Given the description of an element on the screen output the (x, y) to click on. 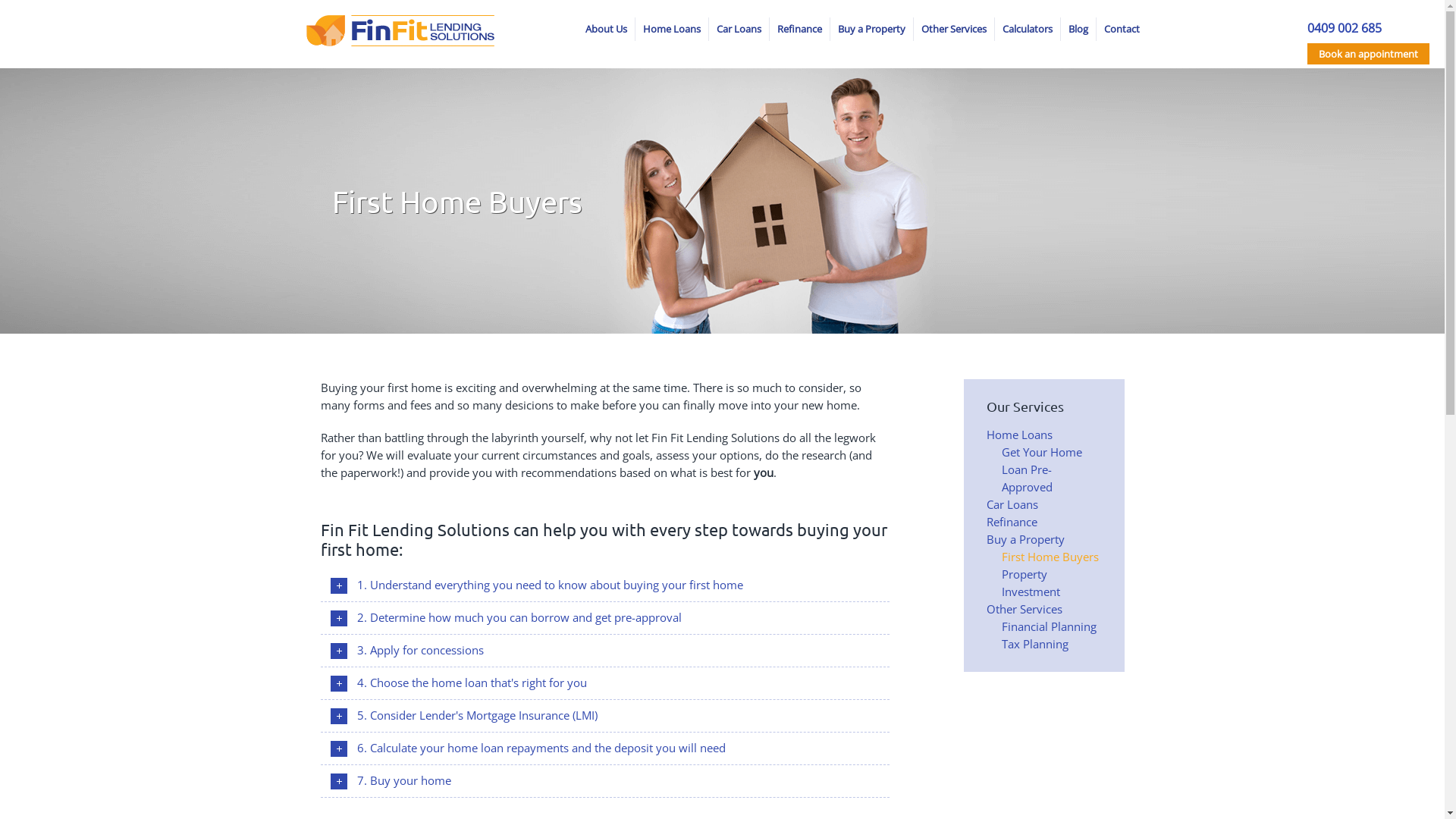
Calculators Element type: text (1027, 29)
About Us Element type: text (606, 29)
0409 002 685 Element type: text (1344, 27)
Home Loans Element type: text (671, 29)
Car Loans Element type: text (737, 29)
Blog Element type: text (1077, 29)
Other Services Element type: text (952, 29)
Book an appointment Element type: text (1368, 53)
Car Loans Element type: text (1011, 503)
Refinance Element type: text (1010, 521)
Buy a Property Element type: text (870, 29)
Property Investment Element type: text (1030, 582)
Buy a Property Element type: text (1024, 538)
Tax Planning Element type: text (1034, 643)
Other Services Element type: text (1023, 608)
Financial Planning Element type: text (1048, 625)
Home Loans Element type: text (1018, 434)
First Home Buyers Element type: text (1049, 556)
Refinance Element type: text (798, 29)
Get Your Home Loan Pre-Approved Element type: text (1041, 469)
Contact Element type: text (1121, 29)
FinFit Lending Solutions Brisbane Element type: text (399, 30)
